Given the description of an element on the screen output the (x, y) to click on. 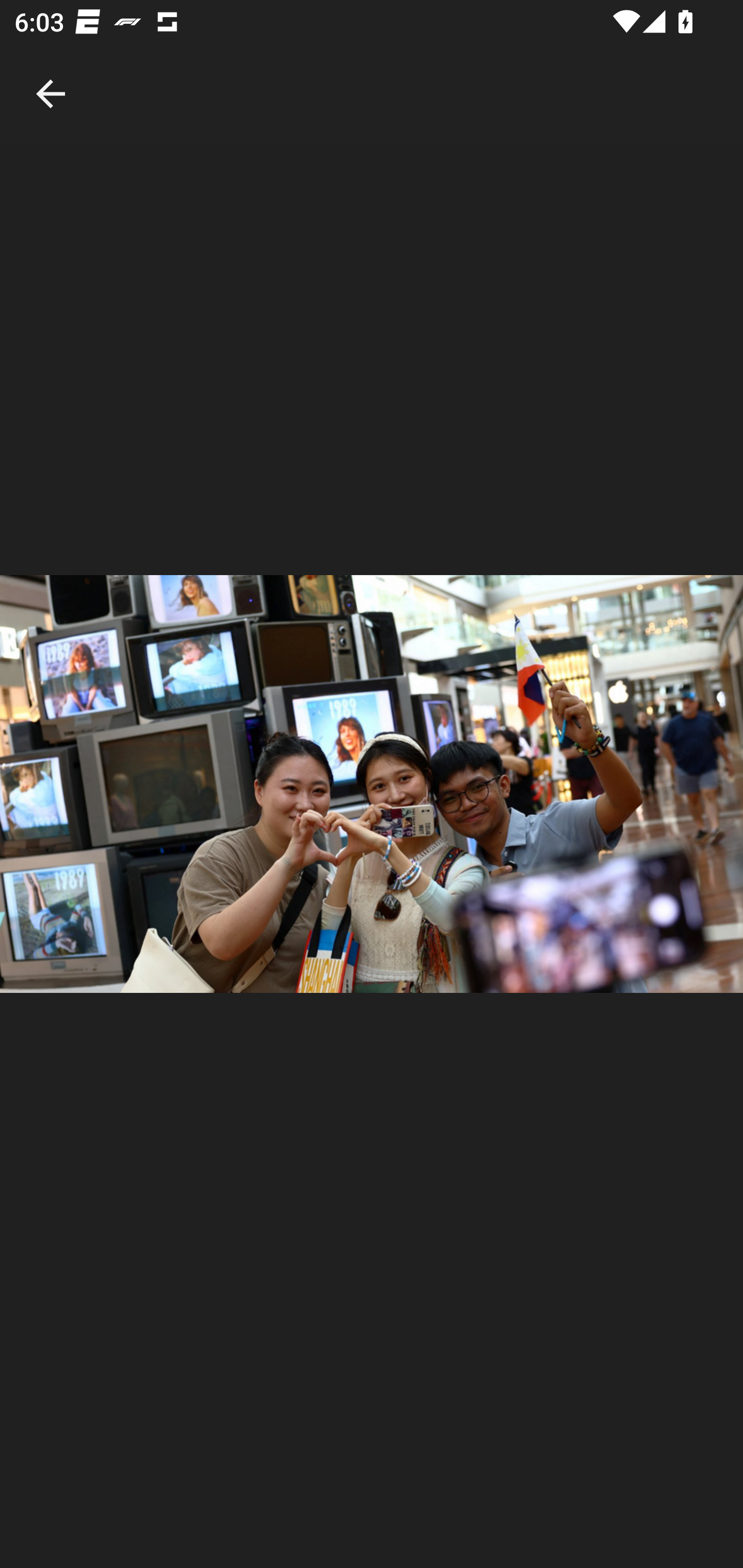
Back (50, 72)
